Given the description of an element on the screen output the (x, y) to click on. 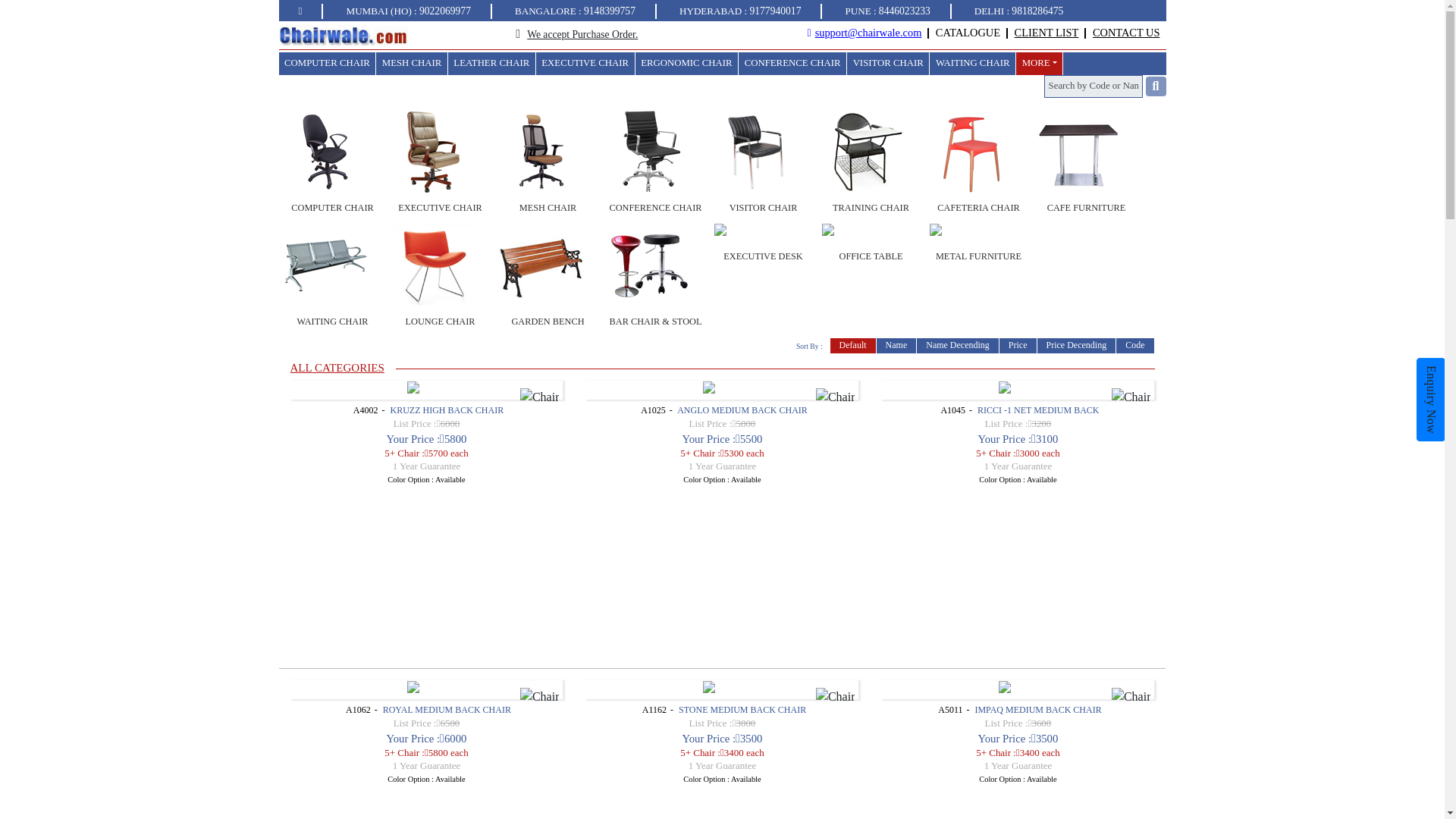
Search by Code or Name..... (1092, 86)
WAITING CHAIR (972, 63)
9148399757 (608, 11)
MORE (1039, 63)
VISITOR CHAIR (887, 63)
CONFERENCE CHAIR (791, 63)
MESH CHAIR (410, 63)
LEATHER CHAIR (491, 63)
CONTACT US (1126, 32)
ERGONOMIC CHAIR (686, 63)
EXECUTIVE CHAIR (584, 63)
8446023233 (904, 11)
9022069977 (444, 11)
CLIENT LIST (1046, 32)
9818286475 (1036, 11)
